Given the description of an element on the screen output the (x, y) to click on. 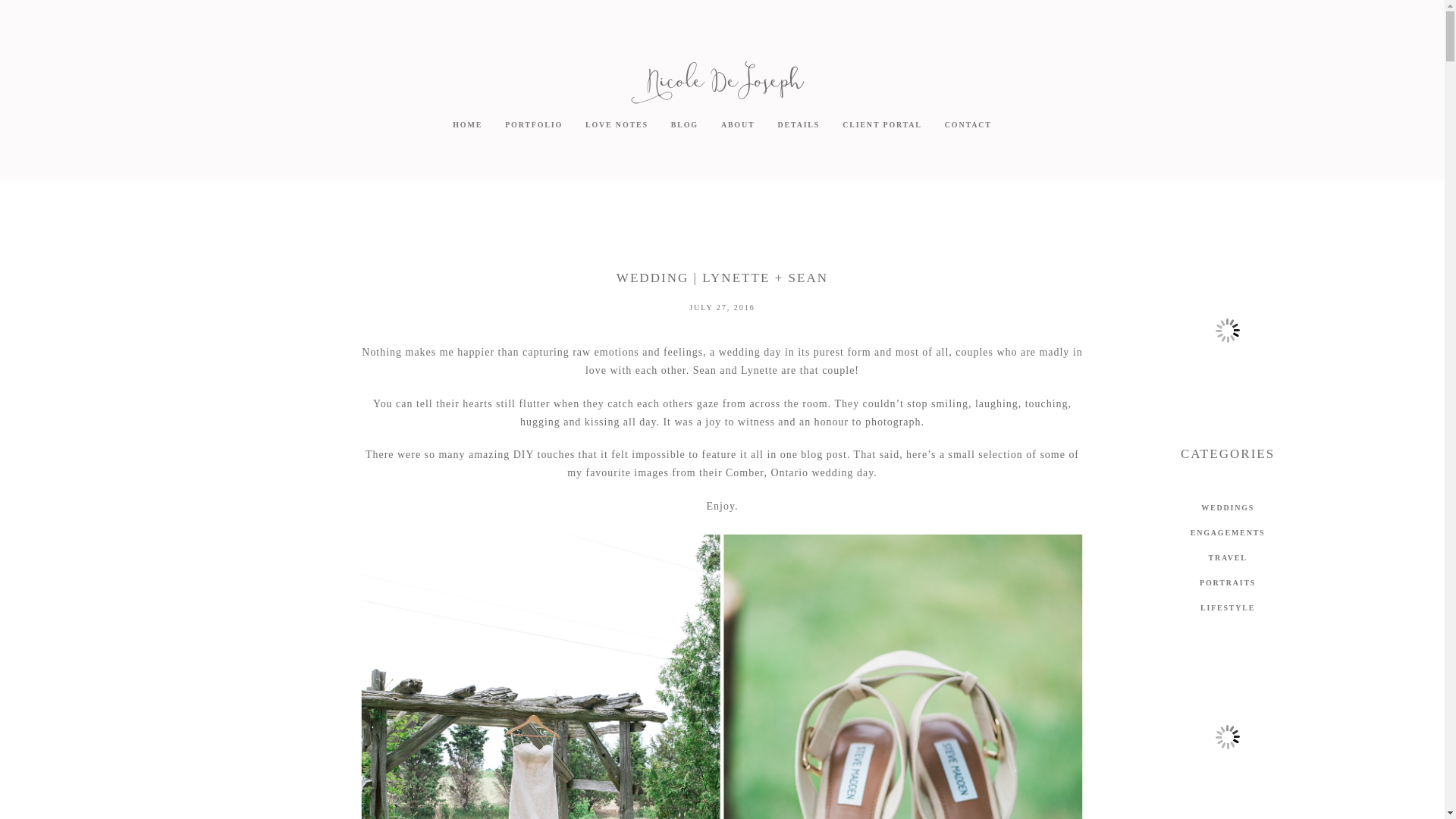
CLIENT PORTAL (882, 124)
TRAVEL (1227, 558)
ENGAGEMENTS (1227, 533)
HOME (466, 124)
WEDDINGS (1227, 507)
CONTACT (967, 124)
DETAILS (798, 124)
PORTFOLIO (533, 124)
PORTRAITS (1227, 583)
LIFESTYLE (1227, 608)
LOVE NOTES (616, 124)
ABOUT (737, 124)
BLOG (684, 124)
